Given the description of an element on the screen output the (x, y) to click on. 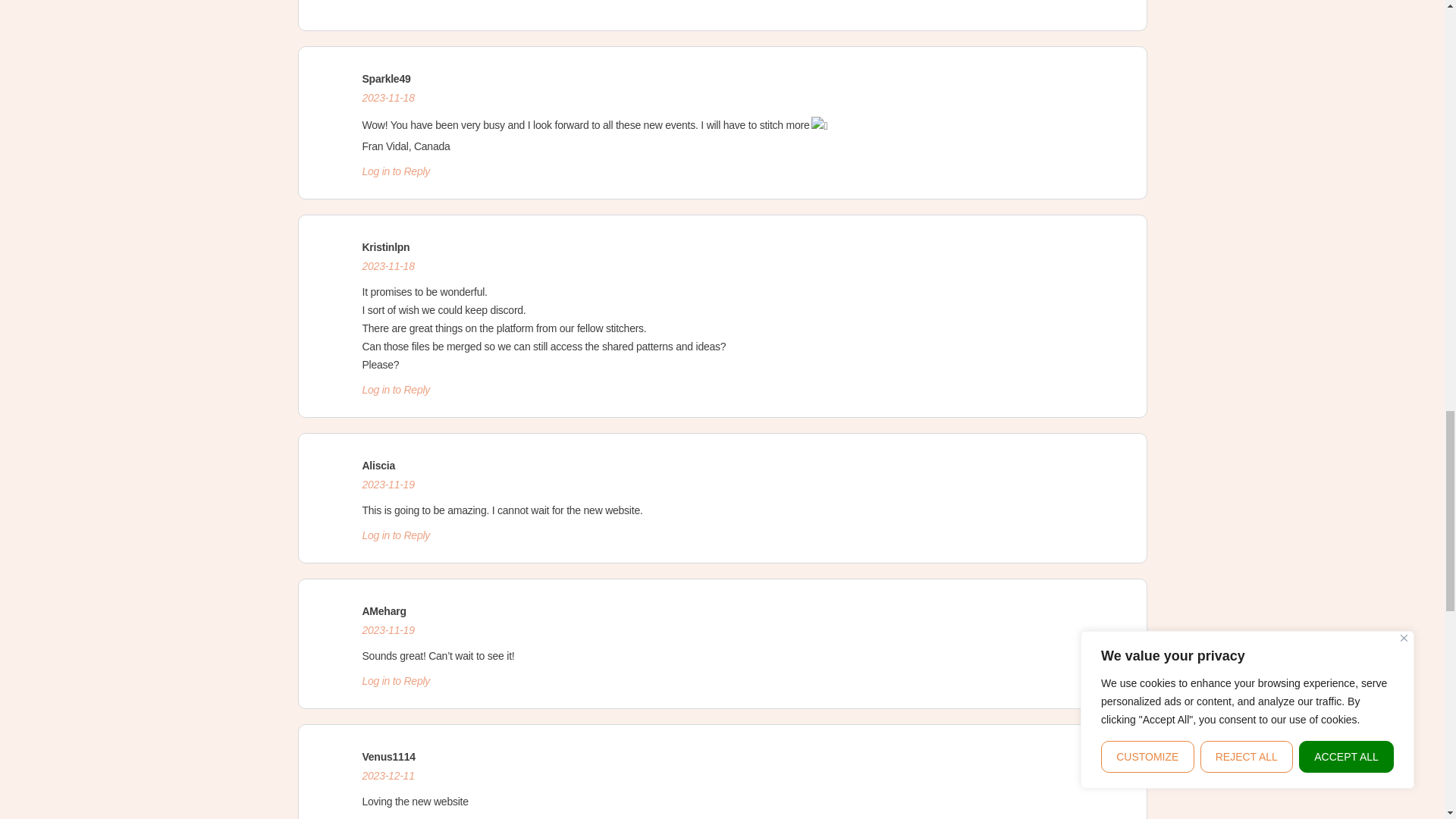
Log in to Reply (396, 171)
Venus1114 (388, 756)
2023-11-18 (388, 97)
Log in to Reply (396, 680)
Sparkle49 (386, 78)
Log in to Reply (396, 535)
Aliscia (378, 465)
AMeharg (384, 611)
2023-11-19 (388, 630)
Log in to Reply (396, 390)
Kristinlpn (386, 246)
2023-12-11 (388, 775)
2023-11-18 (388, 265)
2023-11-19 (388, 484)
